Given the description of an element on the screen output the (x, y) to click on. 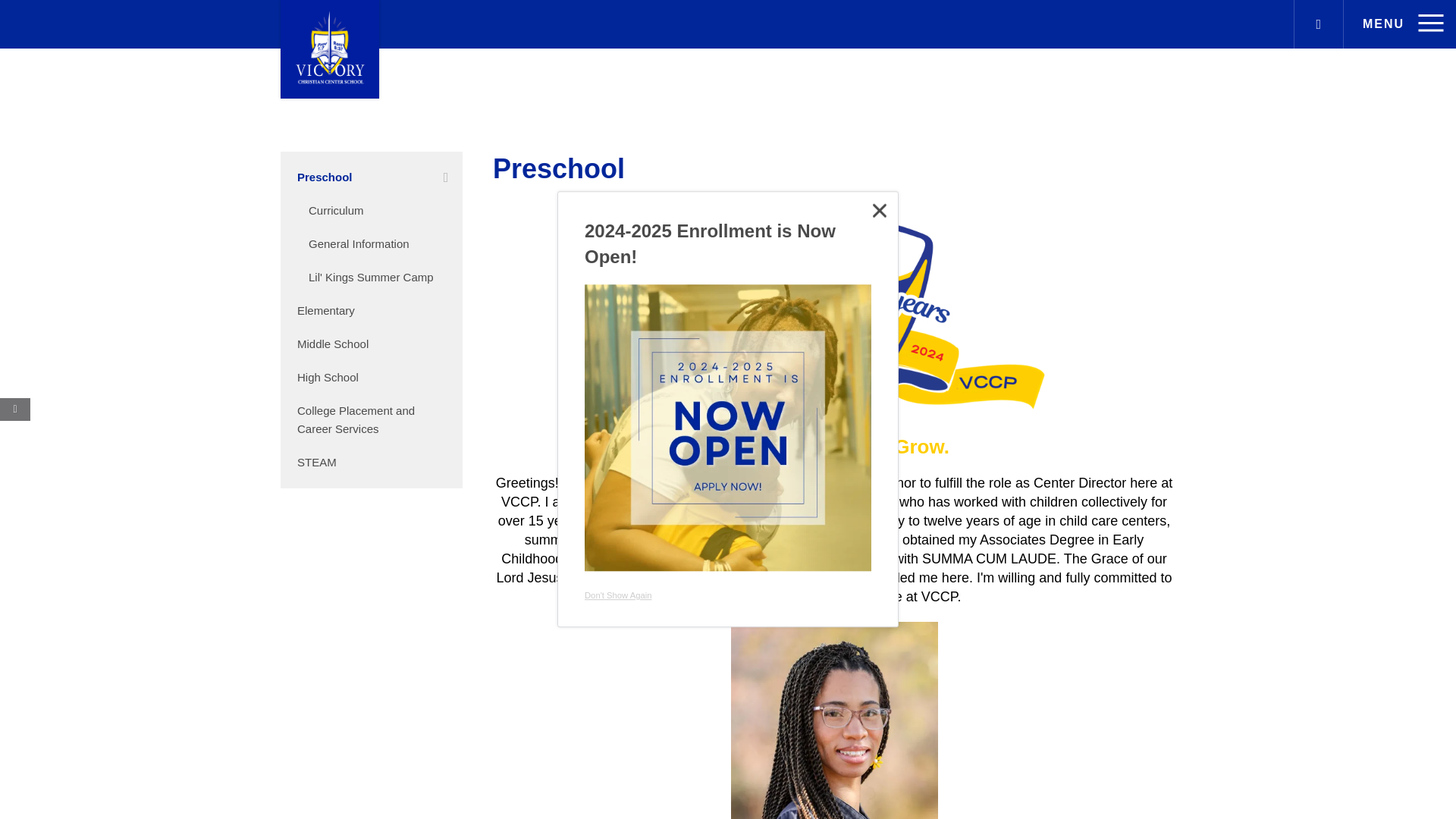
Victory Christian Center School (329, 49)
